Given the description of an element on the screen output the (x, y) to click on. 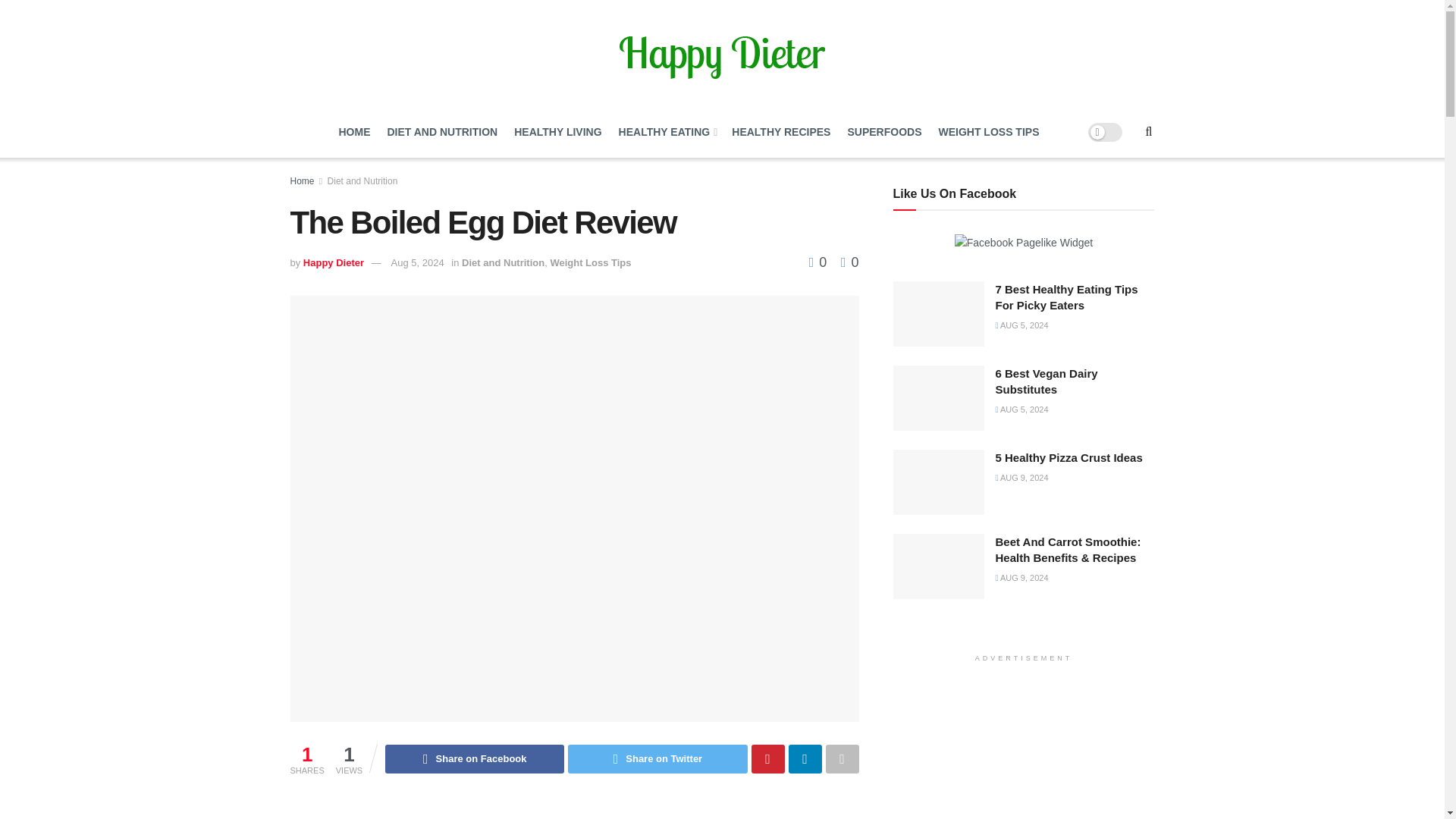
Aug 5, 2024 (417, 262)
Home (301, 181)
Weight Loss Tips (590, 262)
Happy Dieter (333, 262)
HEALTHY EATING (667, 132)
DIET AND NUTRITION (442, 132)
Share on Facebook (474, 758)
HEALTHY LIVING (557, 132)
0 (818, 262)
0 (850, 262)
